Given the description of an element on the screen output the (x, y) to click on. 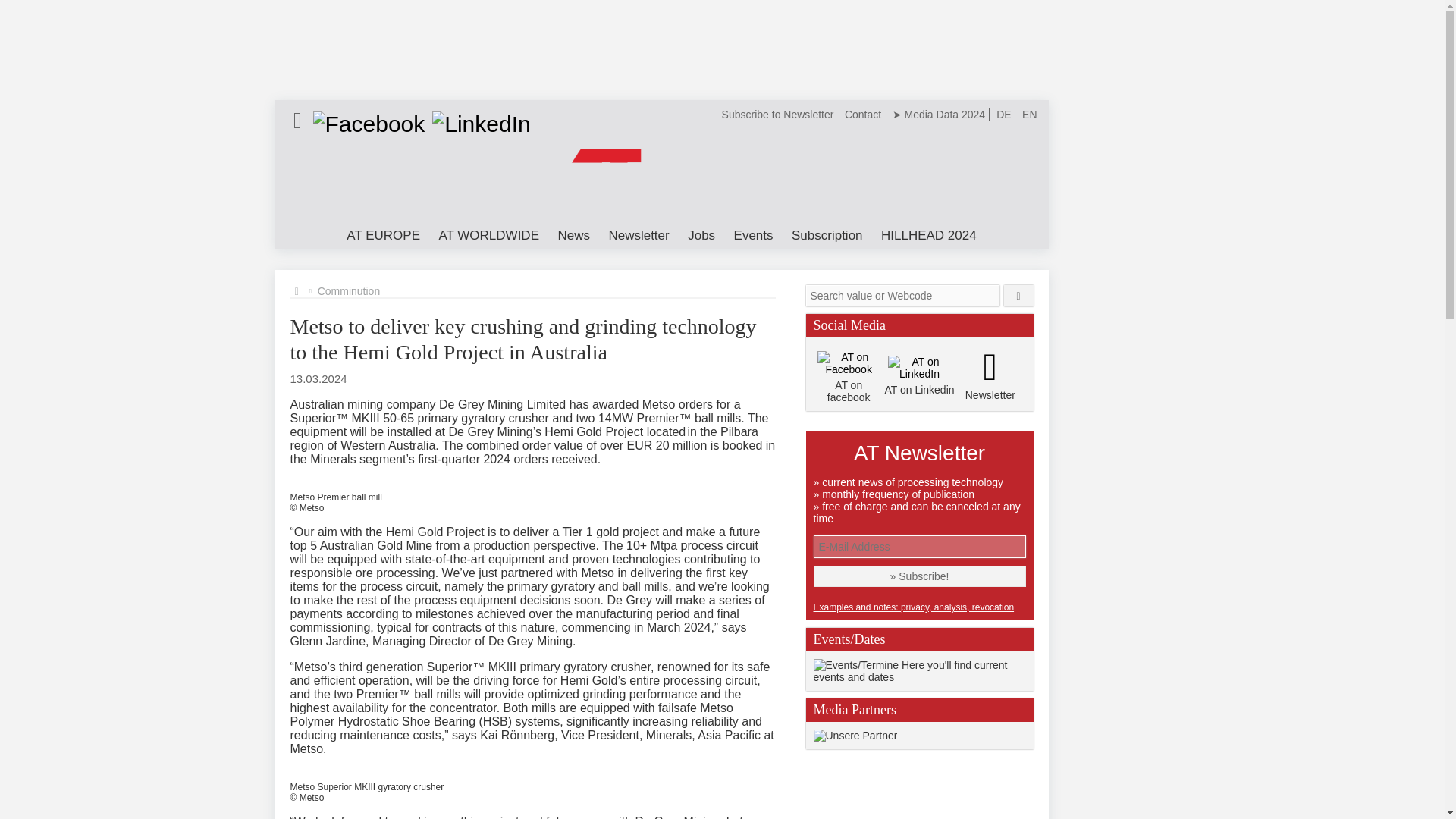
Search value or Webcode (901, 295)
HILLHEAD 2024 (928, 236)
Subscription (827, 236)
AT EUROPE (383, 236)
Subscribe to Newsletter (777, 114)
Newsletter (638, 236)
EN (1029, 114)
Suchen (1018, 295)
DE (1003, 114)
Jobs (700, 236)
AT WORLDWIDE (488, 236)
Comminution (348, 291)
News (573, 236)
Contact (863, 114)
Events (753, 236)
